Given the description of an element on the screen output the (x, y) to click on. 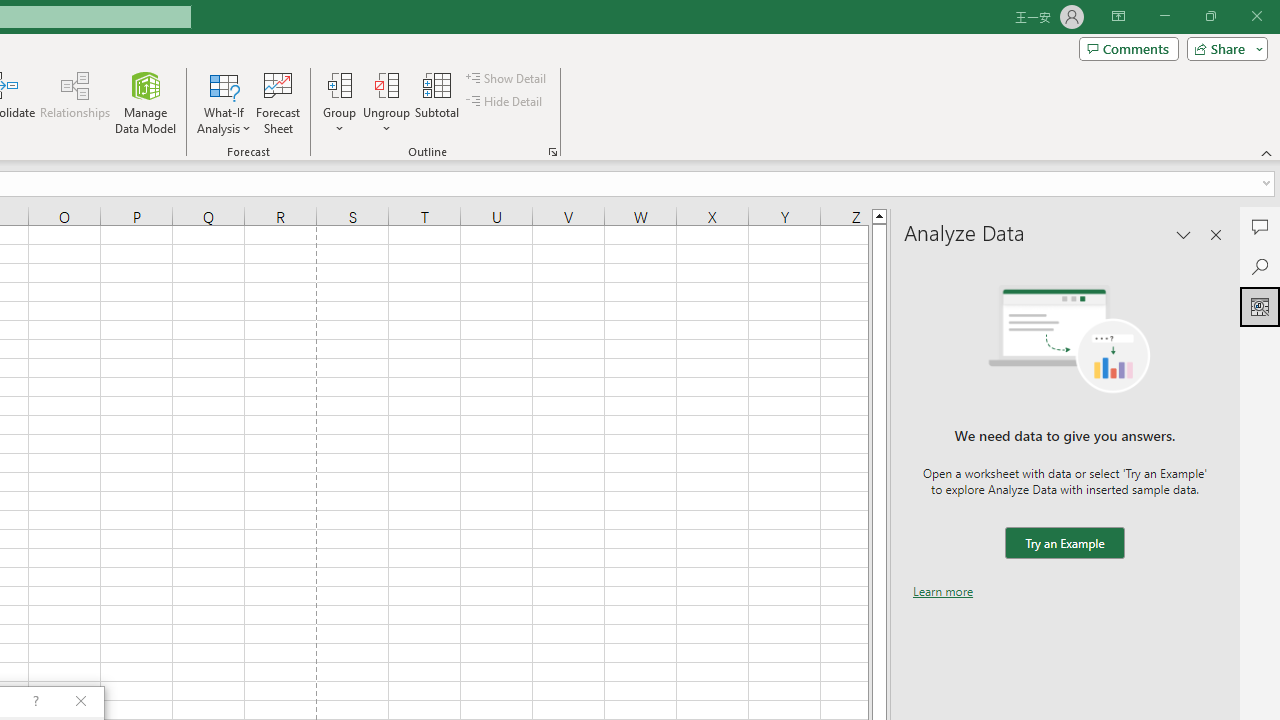
Relationships (75, 102)
Show Detail (507, 78)
Close pane (1215, 234)
Ungroup... (386, 84)
Comments (1260, 226)
Minimize (1164, 16)
Ungroup... (386, 102)
We need data to give you answers. Try an Example (1064, 543)
Line up (879, 215)
Group and Outline Settings (552, 151)
Manage Data Model (145, 102)
Group... (339, 84)
Analyze Data (1260, 306)
More Options (386, 121)
